Given the description of an element on the screen output the (x, y) to click on. 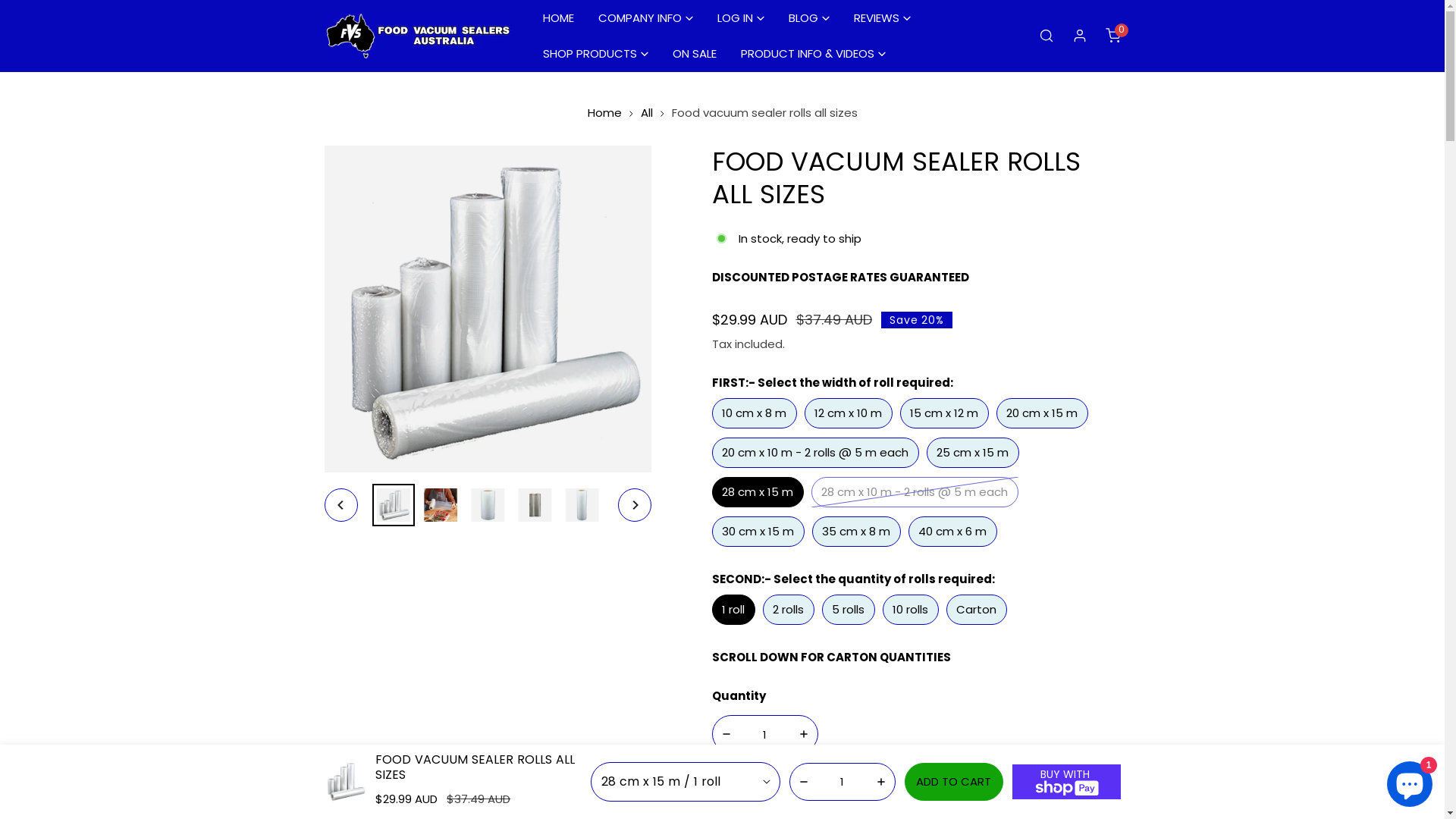
HOME Element type: text (558, 17)
Home Element type: text (603, 112)
Shopify online store chat Element type: hover (1409, 780)
ON SALE Element type: text (693, 53)
ADD TO CART Element type: text (915, 779)
DECREASE QUANTITY FOR FOOD VACUUM SEALER ROLLS ALL SIZES Element type: text (803, 781)
DECREASE QUANTITY FOR FOOD VACUUM SEALER ROLLS ALL SIZES Element type: text (726, 733)
SKIP TO PRODUCT INFORMATION Element type: text (348, 163)
All Element type: text (646, 112)
0
items Element type: text (1112, 35)
ADD TO CART Element type: text (953, 781)
INCREASE QUANTITY FOR FOOD VACUUM SEALER ROLLS ALL SIZES Element type: text (880, 781)
INCREASE QUANTITY FOR FOOD VACUUM SEALER ROLLS ALL SIZES Element type: text (803, 733)
Food Vacuum Sealers Australia Element type: hover (419, 35)
Log in Element type: text (1079, 35)
